Given the description of an element on the screen output the (x, y) to click on. 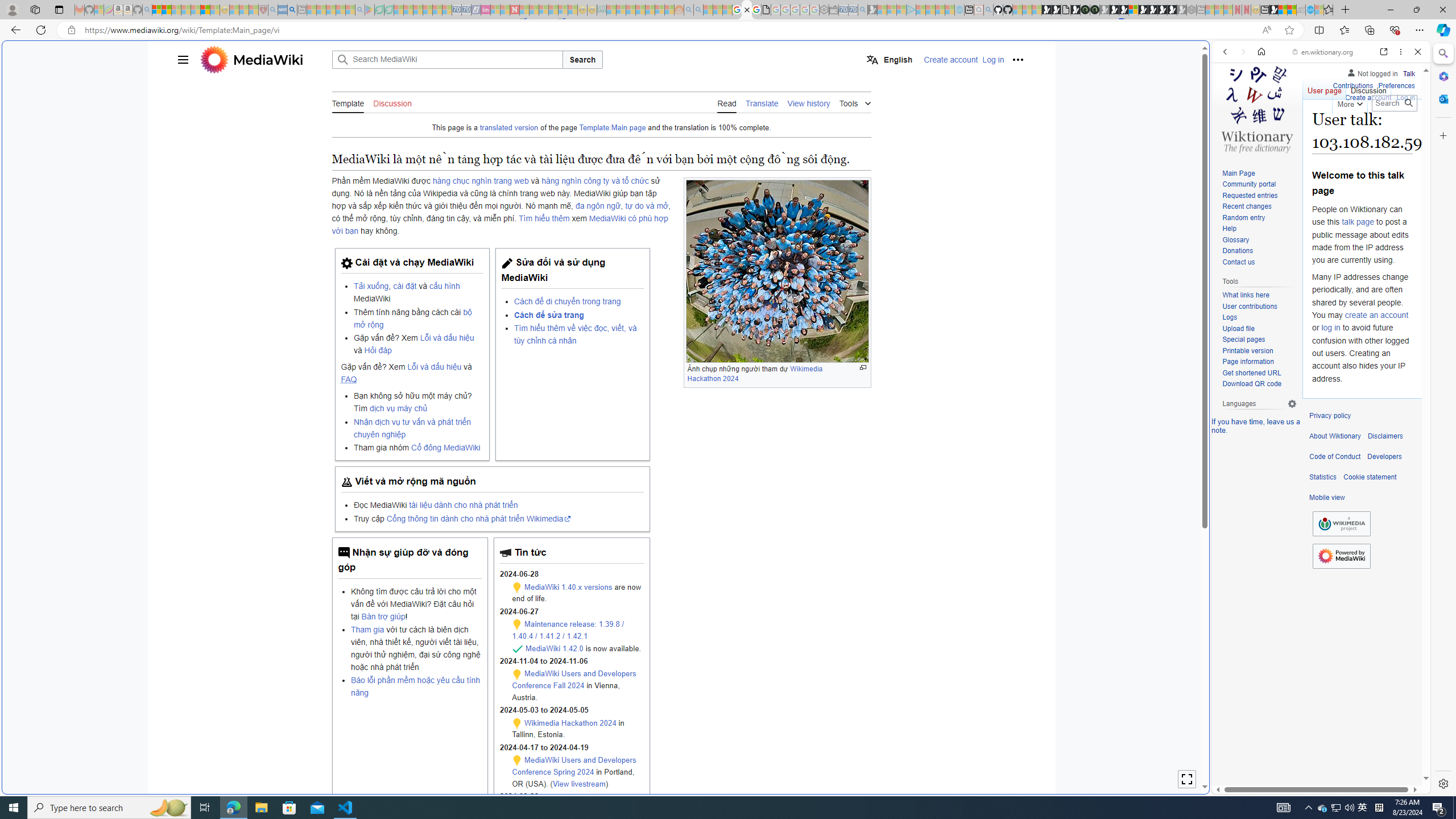
Recent changes (1259, 206)
Glossary (1235, 239)
Random entry (1243, 216)
Personal tools (1017, 59)
Close split screen (1208, 57)
Contact us (1238, 261)
Template:Main page (612, 127)
